Given the description of an element on the screen output the (x, y) to click on. 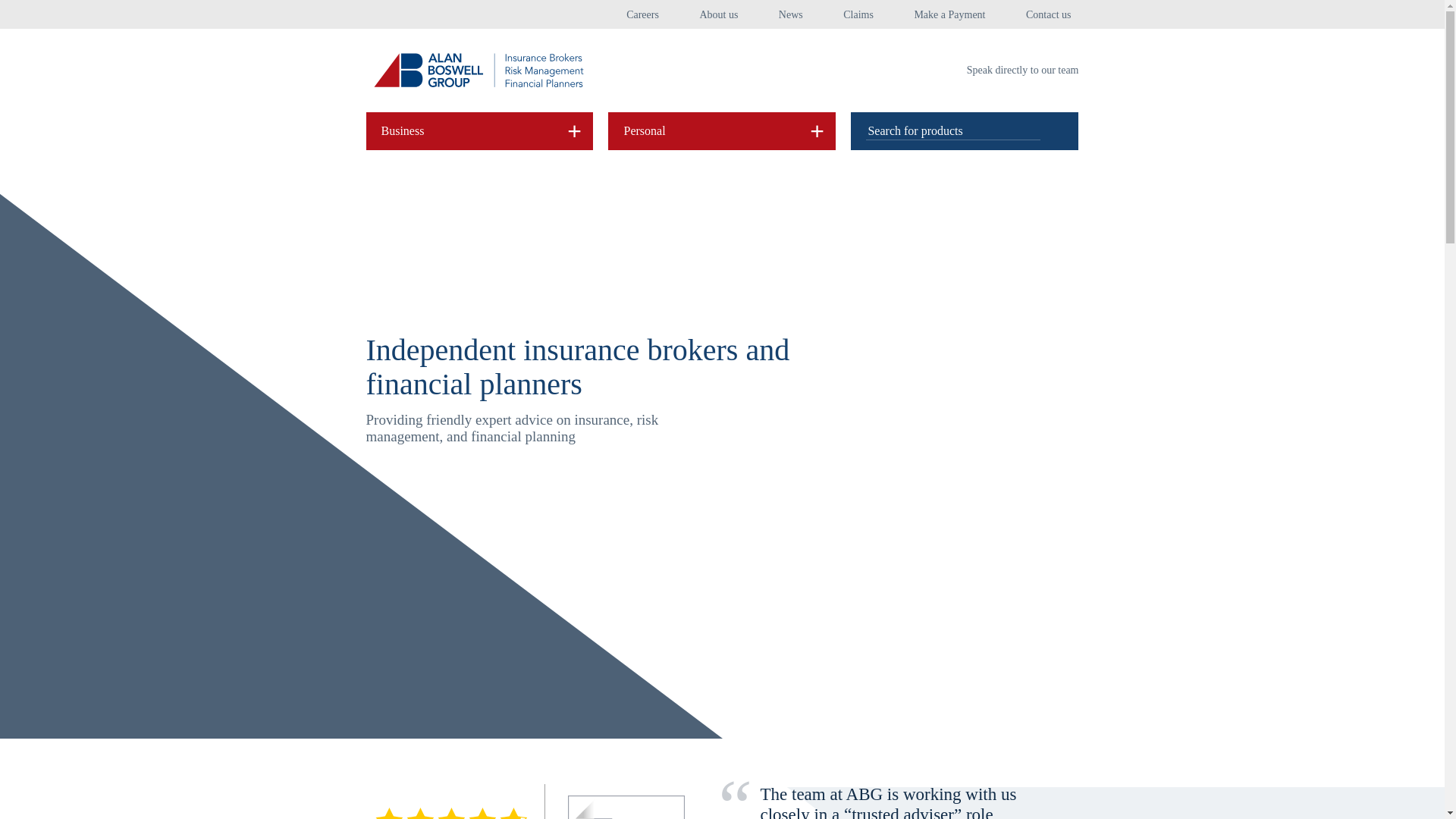
Contact us (1048, 14)
About us (718, 14)
Feefo logo (625, 807)
Careers (642, 14)
Make a Payment (949, 14)
News (790, 14)
Claims (858, 14)
